Given the description of an element on the screen output the (x, y) to click on. 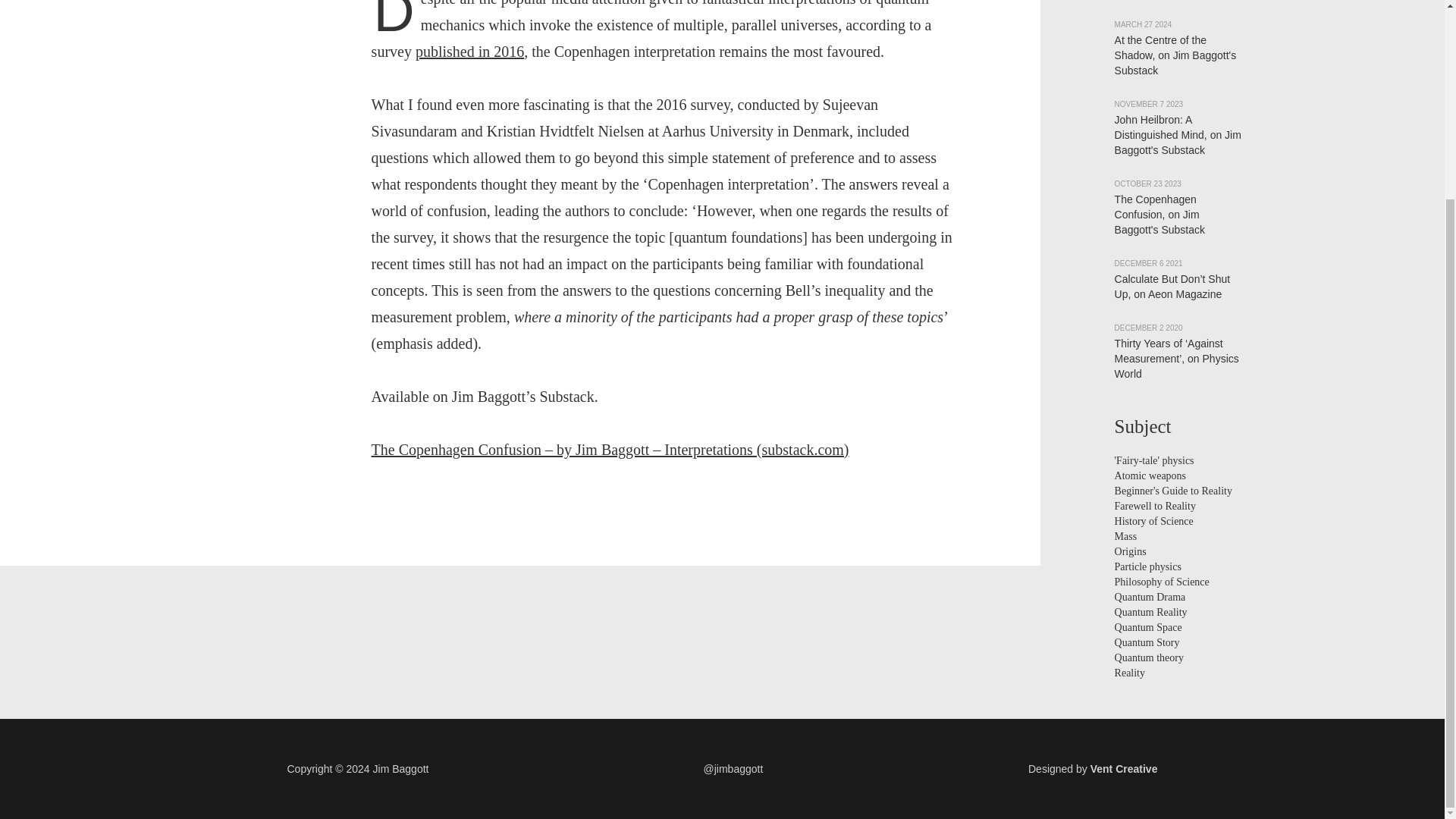
Farewell to Reality (1155, 505)
At the Centre of the Shadow, on Jim Baggott's Substack (1175, 55)
Vent Creative (1123, 768)
Quantum Story (1147, 642)
Reality (1129, 672)
History of Science (1154, 521)
The Copenhagen Confusion, on Jim Baggott's Substack (1160, 214)
Particle physics (1147, 566)
Atomic weapons (1150, 475)
Philosophy of Science (1162, 582)
Mass (1126, 536)
Quantum Drama (1150, 596)
'Fairy-tale' physics (1154, 460)
Beginner's Guide to Reality (1173, 490)
